Given the description of an element on the screen output the (x, y) to click on. 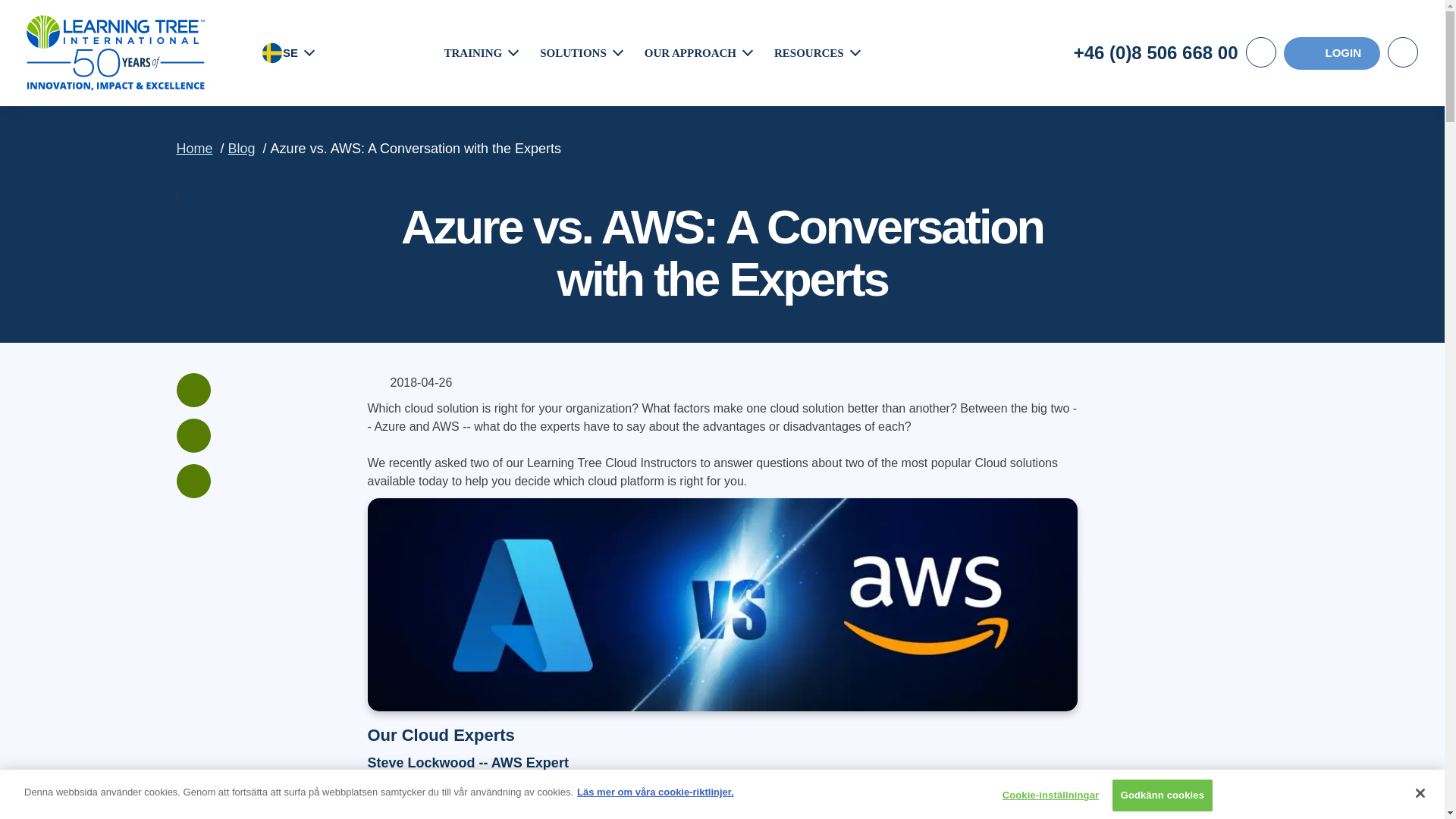
TRAINING (473, 52)
Share on Twitter (192, 480)
Share on LinkedIn (192, 435)
Share on Facebook (192, 390)
